Given the description of an element on the screen output the (x, y) to click on. 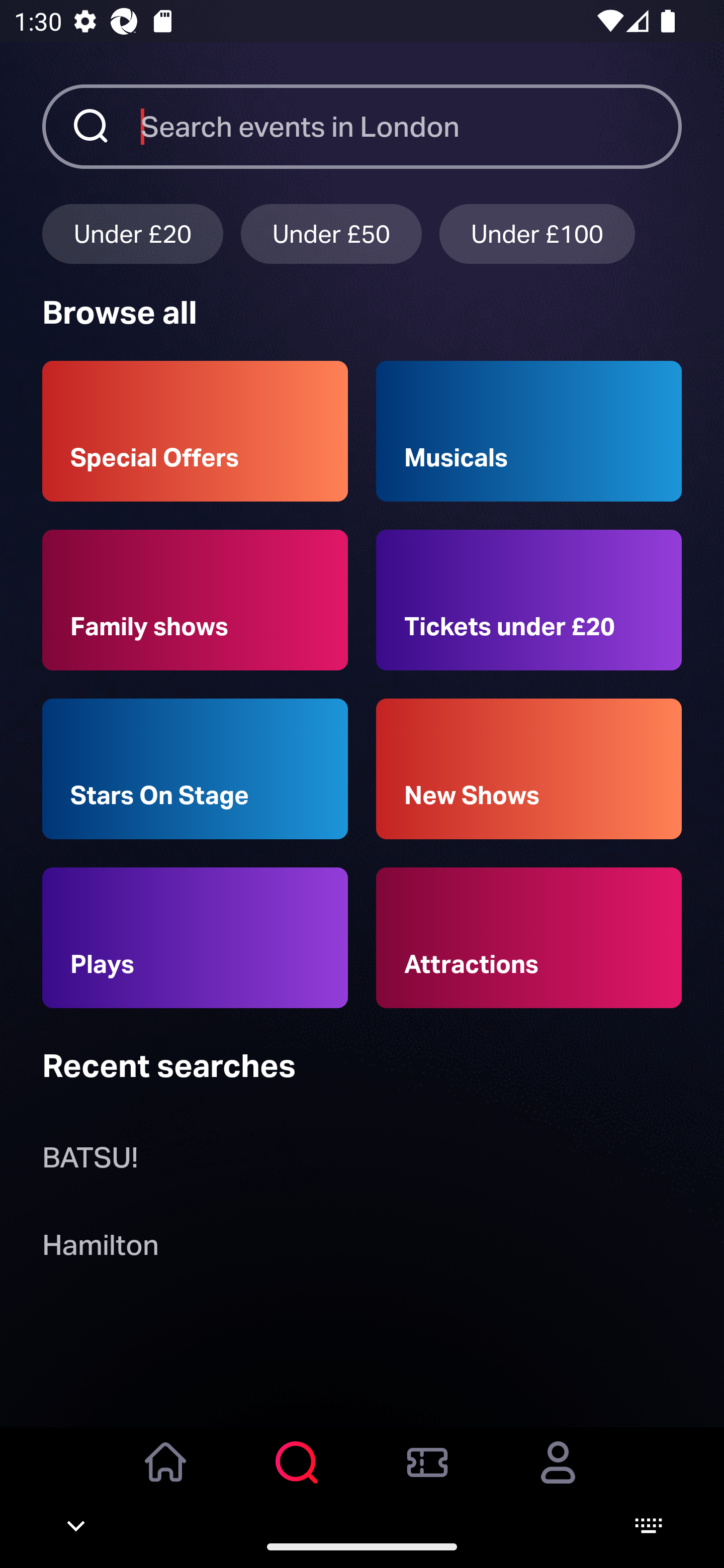
Search events in London (411, 126)
Under £20 (131, 233)
Under £50 (331, 233)
Under £100 (536, 233)
Special Offers (194, 430)
Musicals (528, 430)
Family shows (194, 600)
Tickets under £20  (528, 600)
Stars On Stage (194, 768)
New Shows (528, 768)
Plays (194, 937)
Attractions  (528, 937)
BATSU! (89, 1161)
Hamilton (99, 1248)
Home (165, 1475)
Orders (427, 1475)
Account (558, 1475)
